Given the description of an element on the screen output the (x, y) to click on. 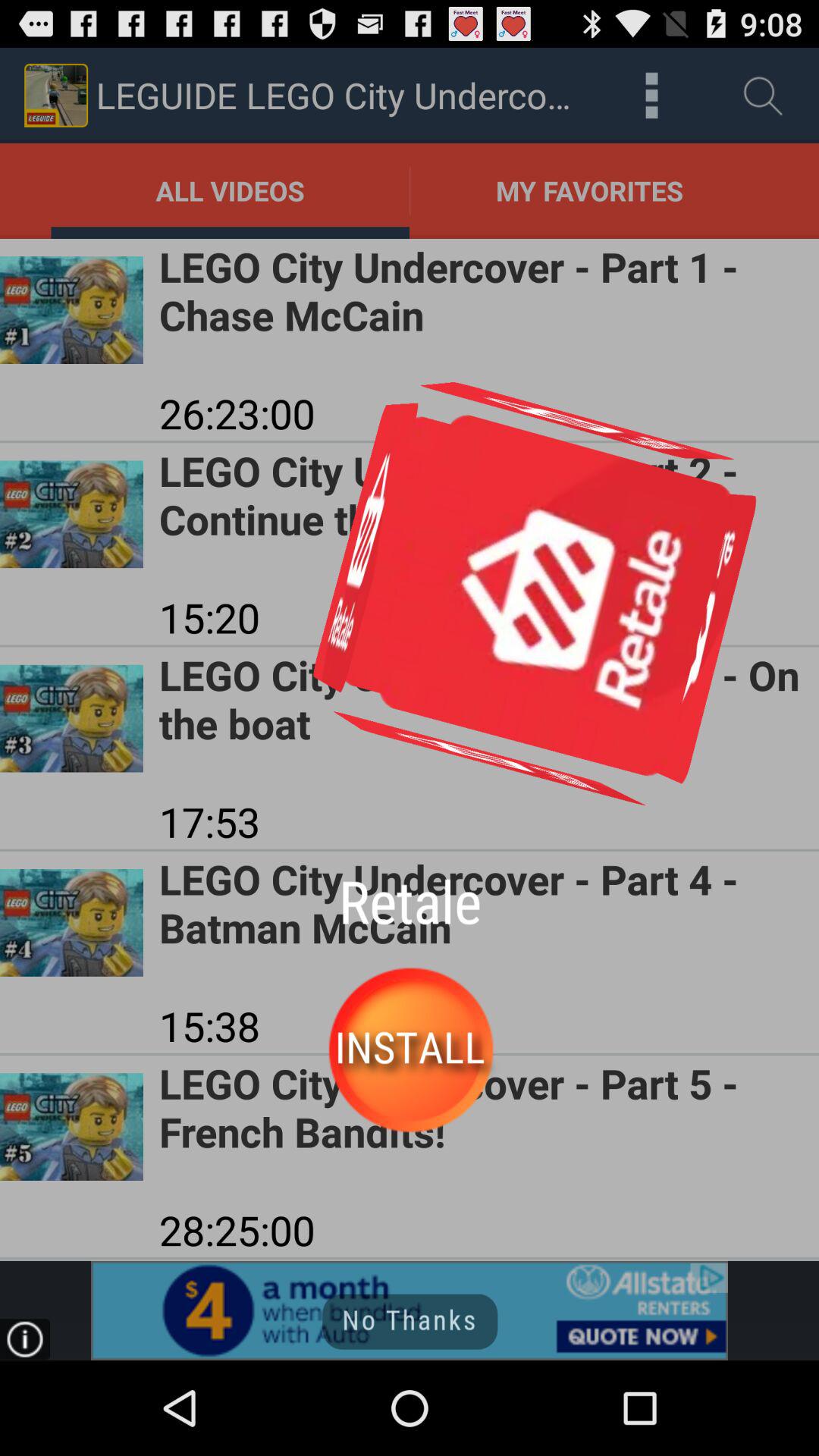
menu button (651, 95)
